Given the description of an element on the screen output the (x, y) to click on. 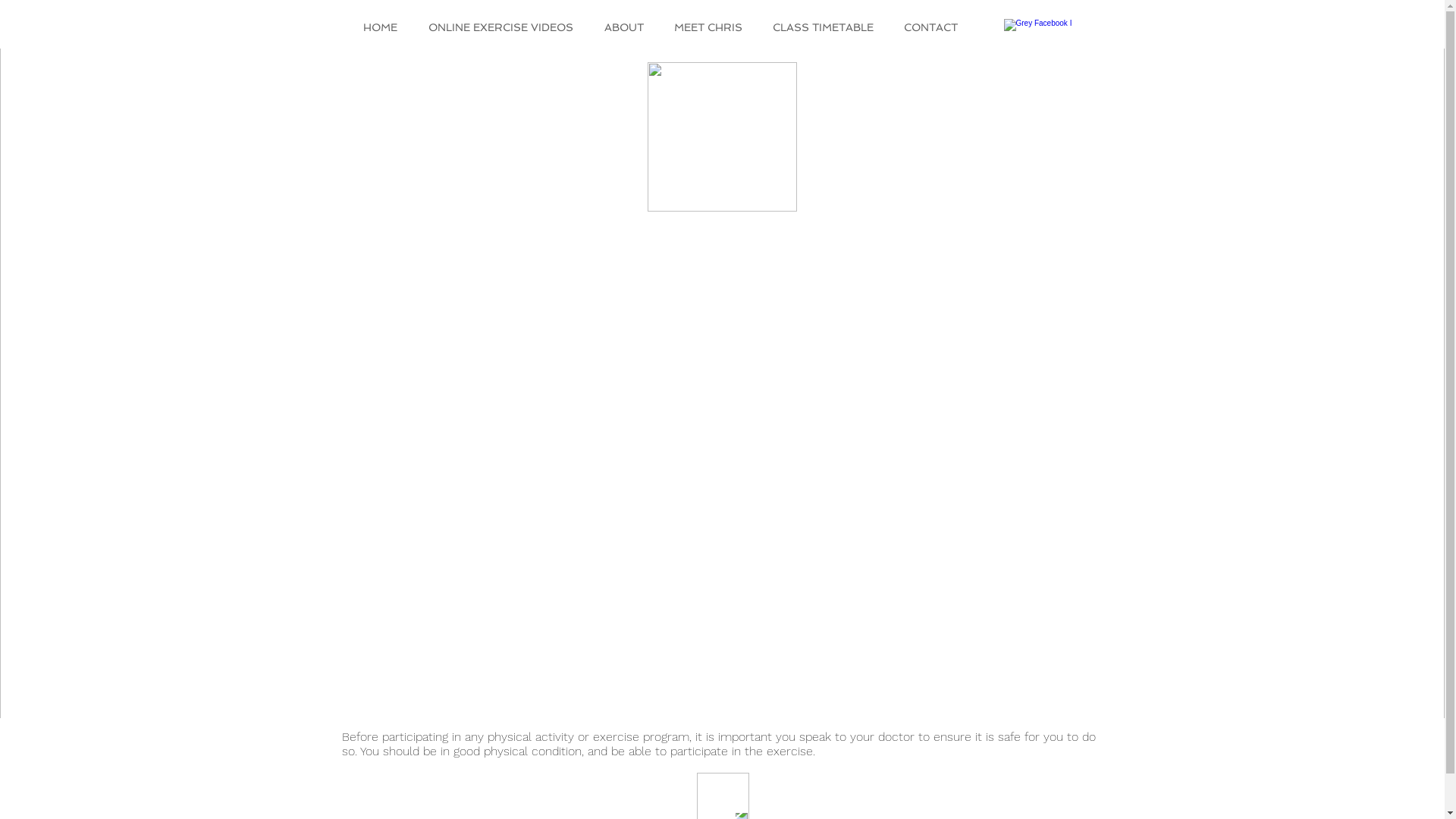
ONLINE EXERCISE VIDEOS Element type: text (505, 26)
HOME Element type: text (384, 26)
CONTACT Element type: text (933, 26)
c.moore@fitforlifeexphys.com.au Element type: text (757, 413)
CLASS TIMETABLE Element type: text (826, 26)
MEET CHRIS Element type: text (711, 26)
ABOUT Element type: text (627, 26)
